Given the description of an element on the screen output the (x, y) to click on. 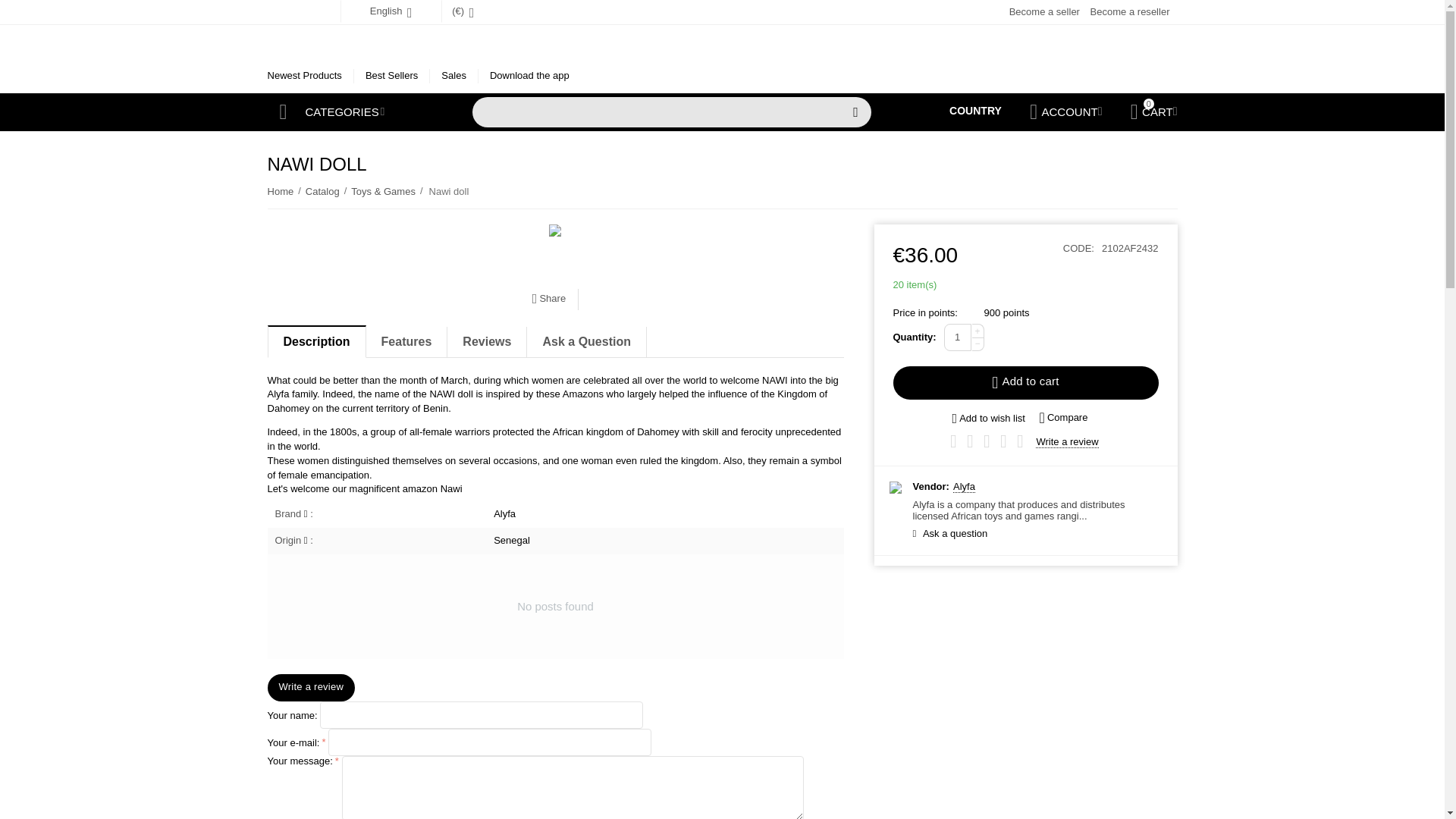
Become a seller (1044, 11)
1 (957, 337)
Nawi doll (554, 230)
Search (855, 112)
Download the app (529, 75)
Best Sellers (391, 75)
Become a reseller (1130, 11)
Sales (453, 75)
Nawi doll (554, 230)
Newest Products (303, 75)
